Given the description of an element on the screen output the (x, y) to click on. 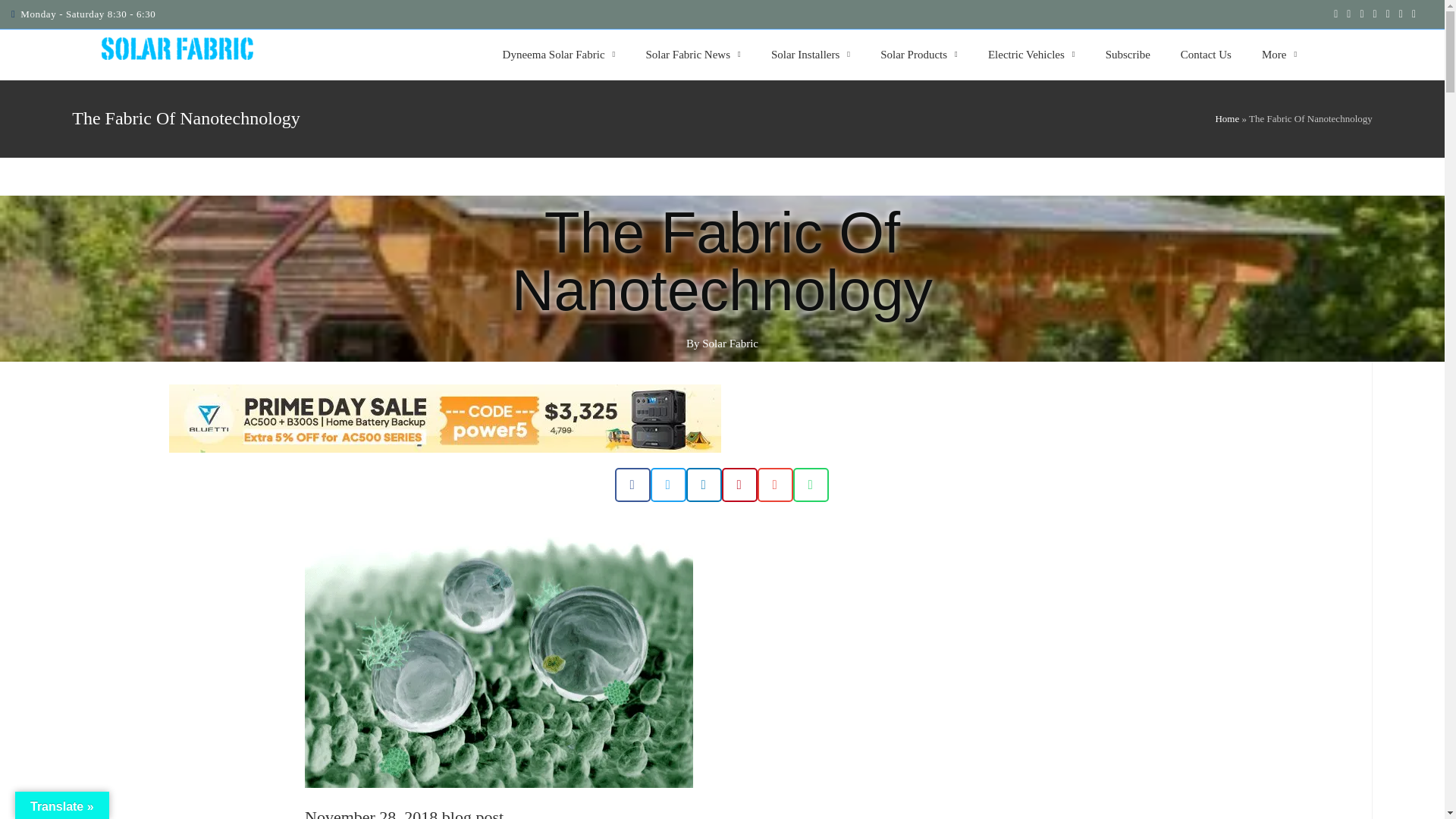
Solar Fabric News (692, 54)
Dyneema Solar Fabric (558, 54)
11:50 am (371, 813)
